Given the description of an element on the screen output the (x, y) to click on. 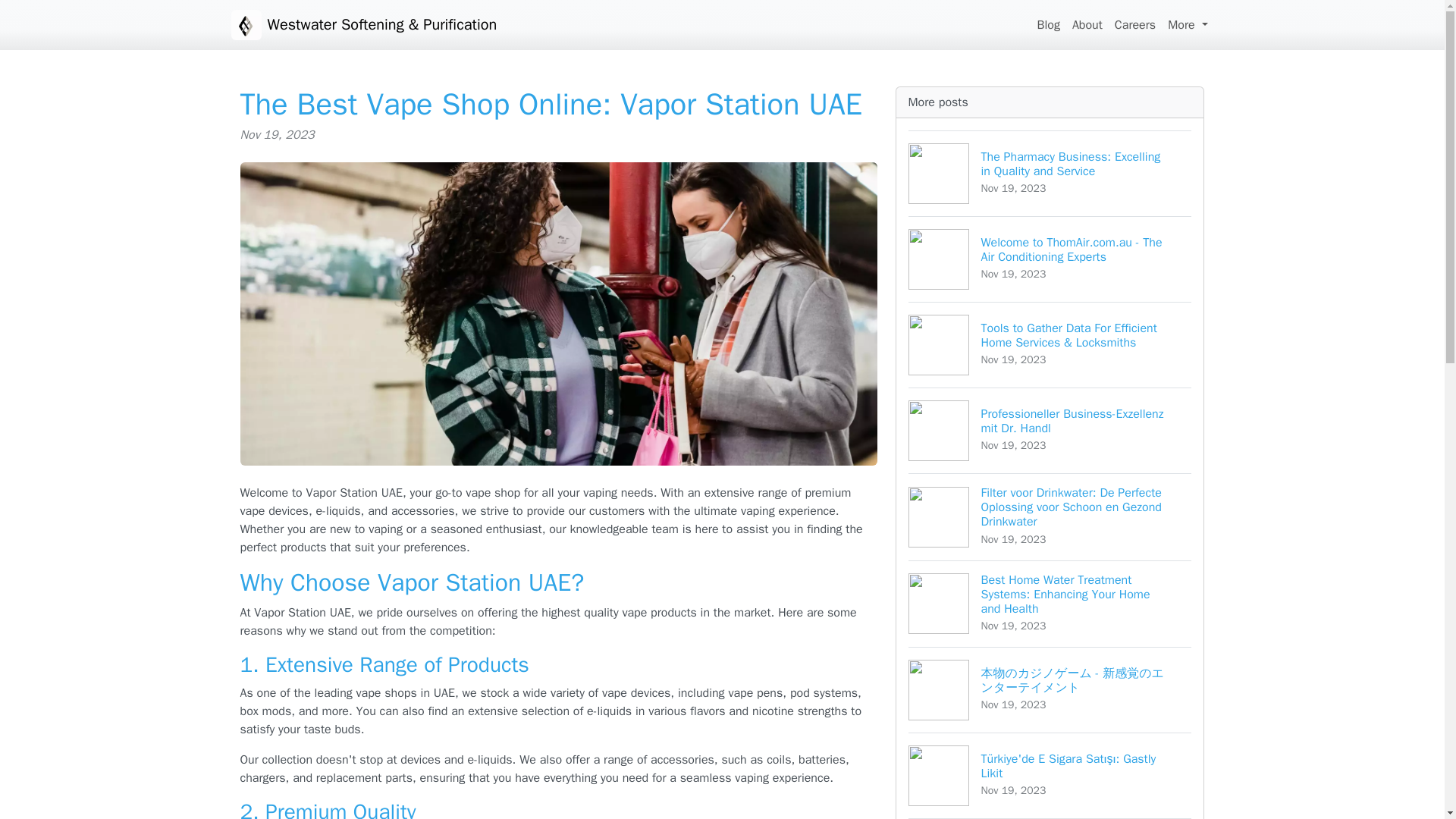
About (1086, 24)
More (1186, 24)
Careers (1134, 24)
Blog (1047, 24)
